Given the description of an element on the screen output the (x, y) to click on. 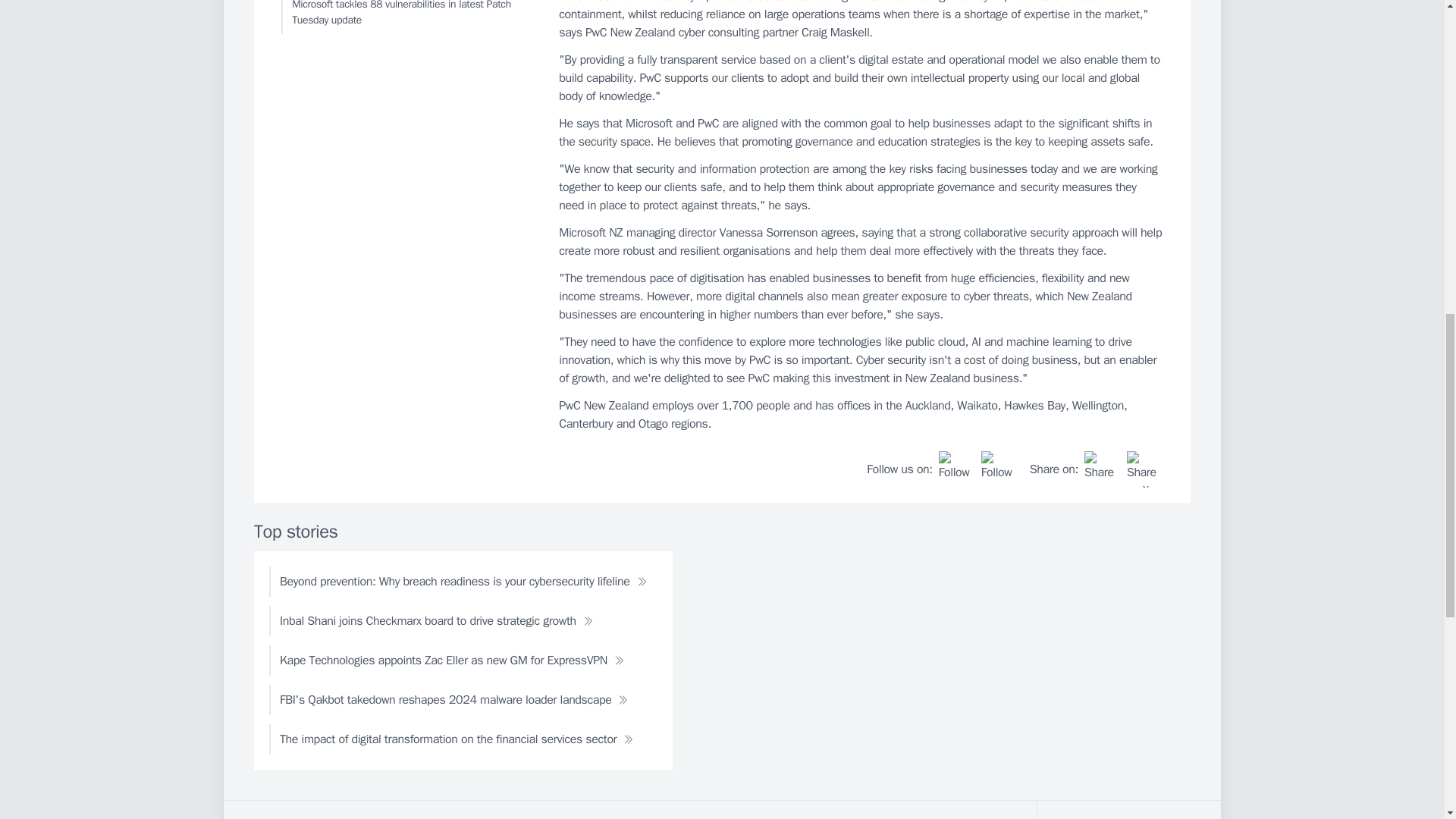
Inbal Shani joins Checkmarx board to drive strategic growth (436, 621)
FBI's Qakbot takedown reshapes 2024 malware loader landscape (454, 699)
